Given the description of an element on the screen output the (x, y) to click on. 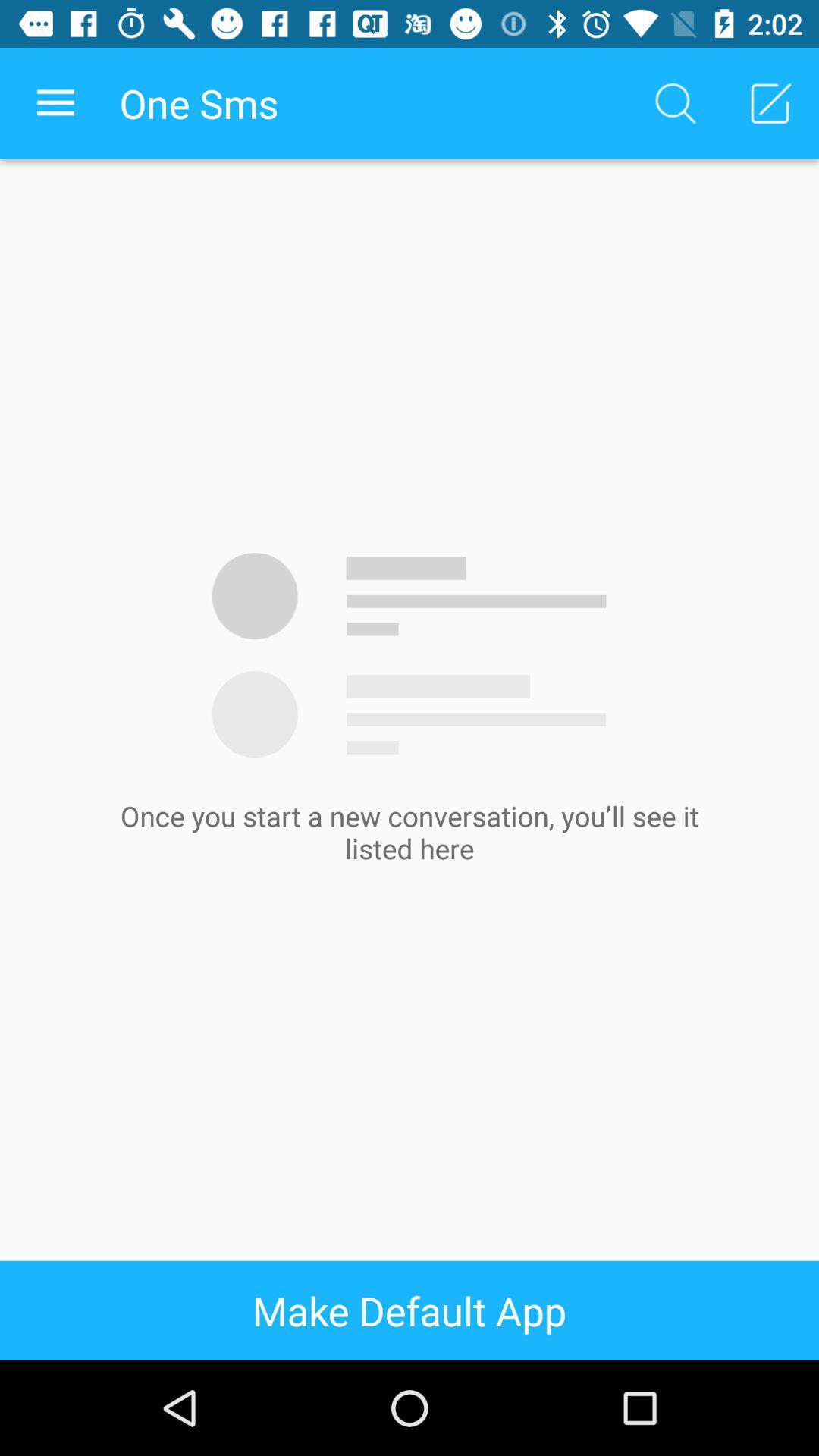
open icon at the bottom (409, 1310)
